Given the description of an element on the screen output the (x, y) to click on. 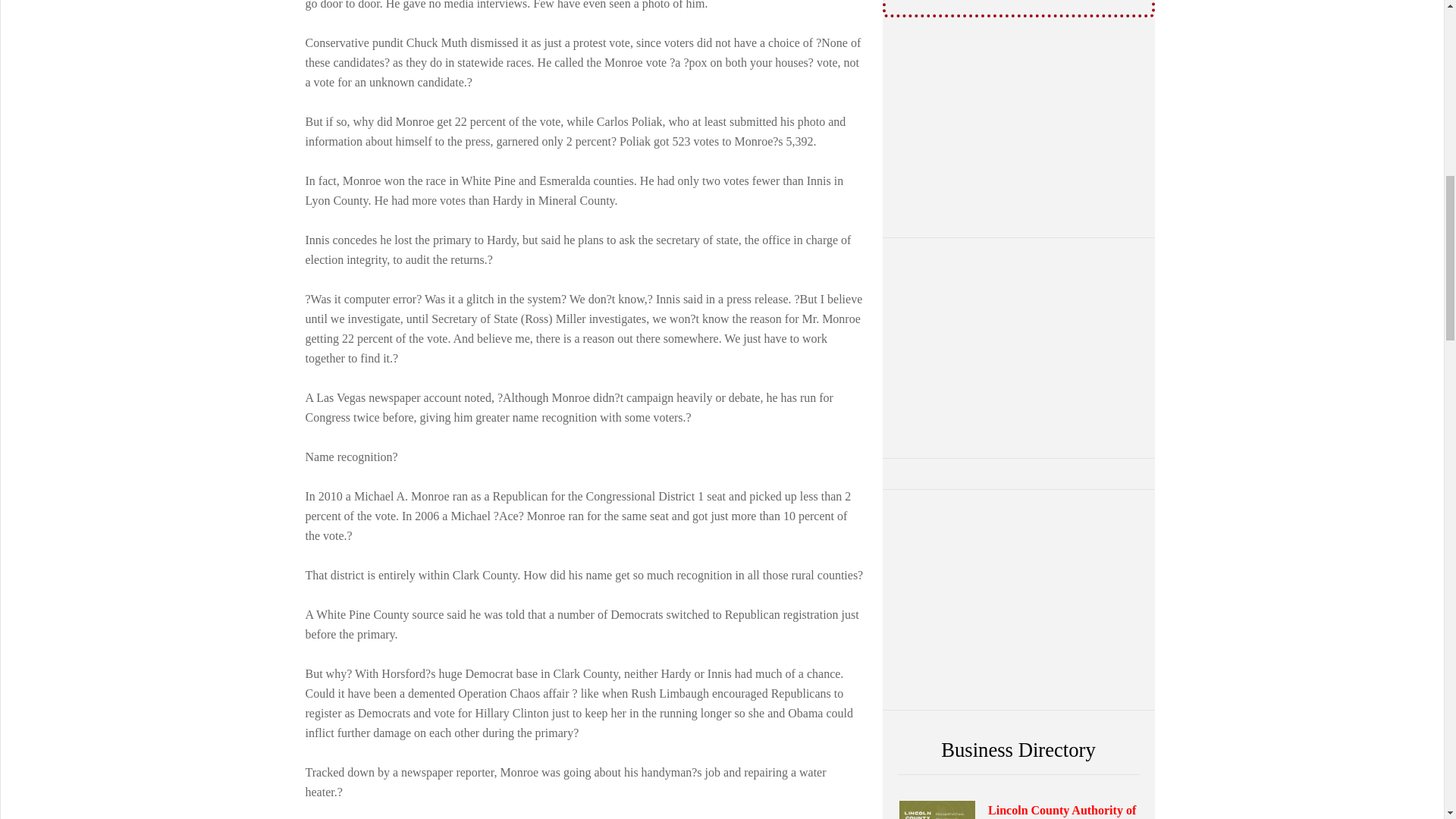
3rd party ad content (1018, 348)
3rd party ad content (1018, 126)
3rd party ad content (1018, 599)
